Given the description of an element on the screen output the (x, y) to click on. 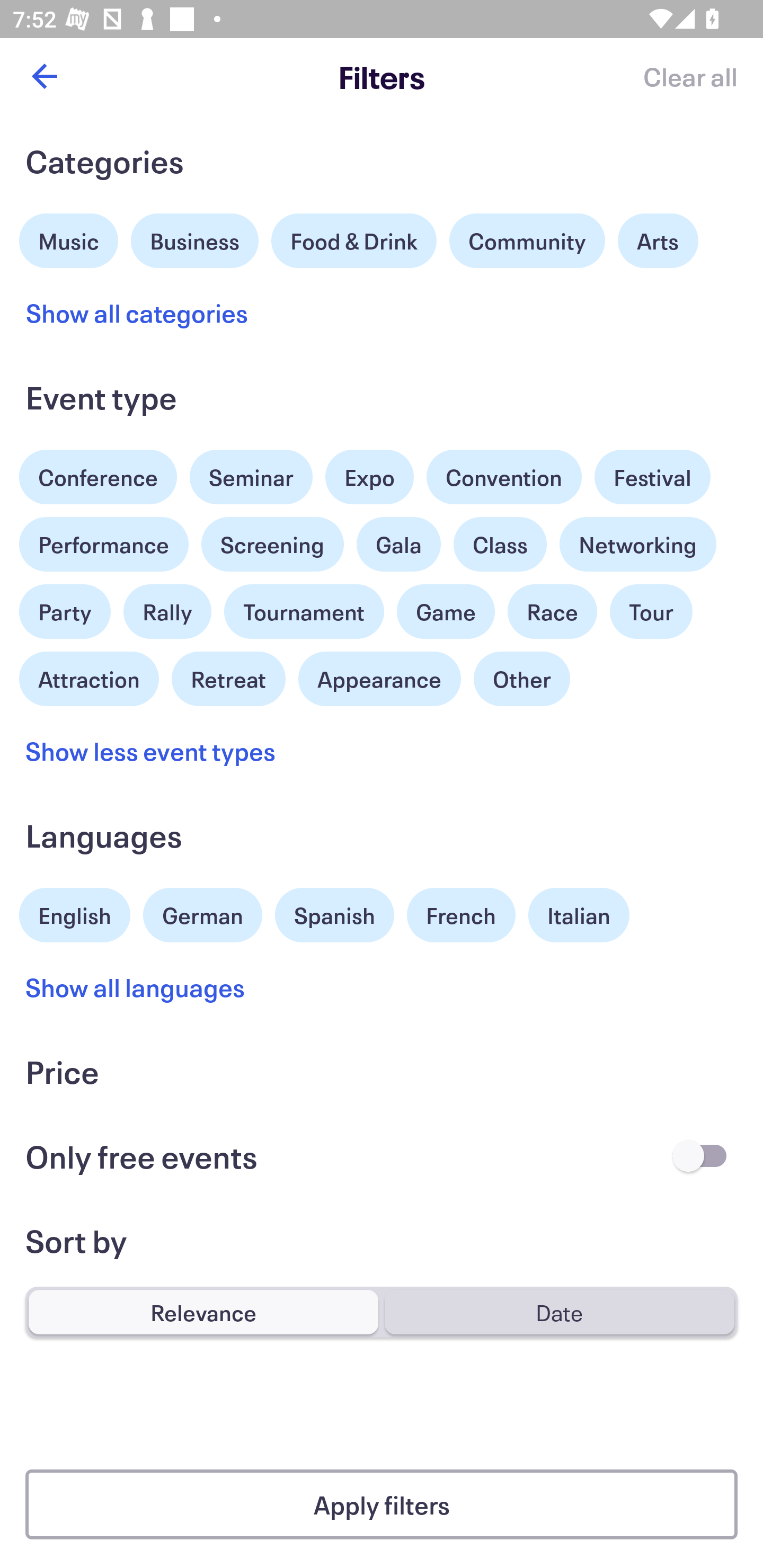
Back button (44, 75)
Clear all (690, 75)
Music (68, 238)
Business (194, 238)
Food & Drink (353, 240)
Community (527, 240)
Arts (658, 240)
Show all categories (136, 312)
Conference (98, 472)
Seminar (250, 477)
Expo (369, 477)
Convention (503, 477)
Festival (652, 472)
Performance (103, 544)
Screening (272, 544)
Gala (398, 544)
Class (500, 544)
Networking (637, 544)
Party (64, 607)
Rally (167, 611)
Tournament (303, 611)
Game (445, 611)
Race (552, 611)
Tour (650, 611)
Attraction (88, 676)
Retreat (228, 676)
Appearance (379, 678)
Other (521, 678)
Show less event types (150, 749)
English (74, 912)
German (202, 912)
Spanish (334, 914)
French (460, 914)
Italian (578, 914)
Show all languages (135, 986)
Relevance (203, 1311)
Date (559, 1311)
Apply filters (381, 1504)
